Given the description of an element on the screen output the (x, y) to click on. 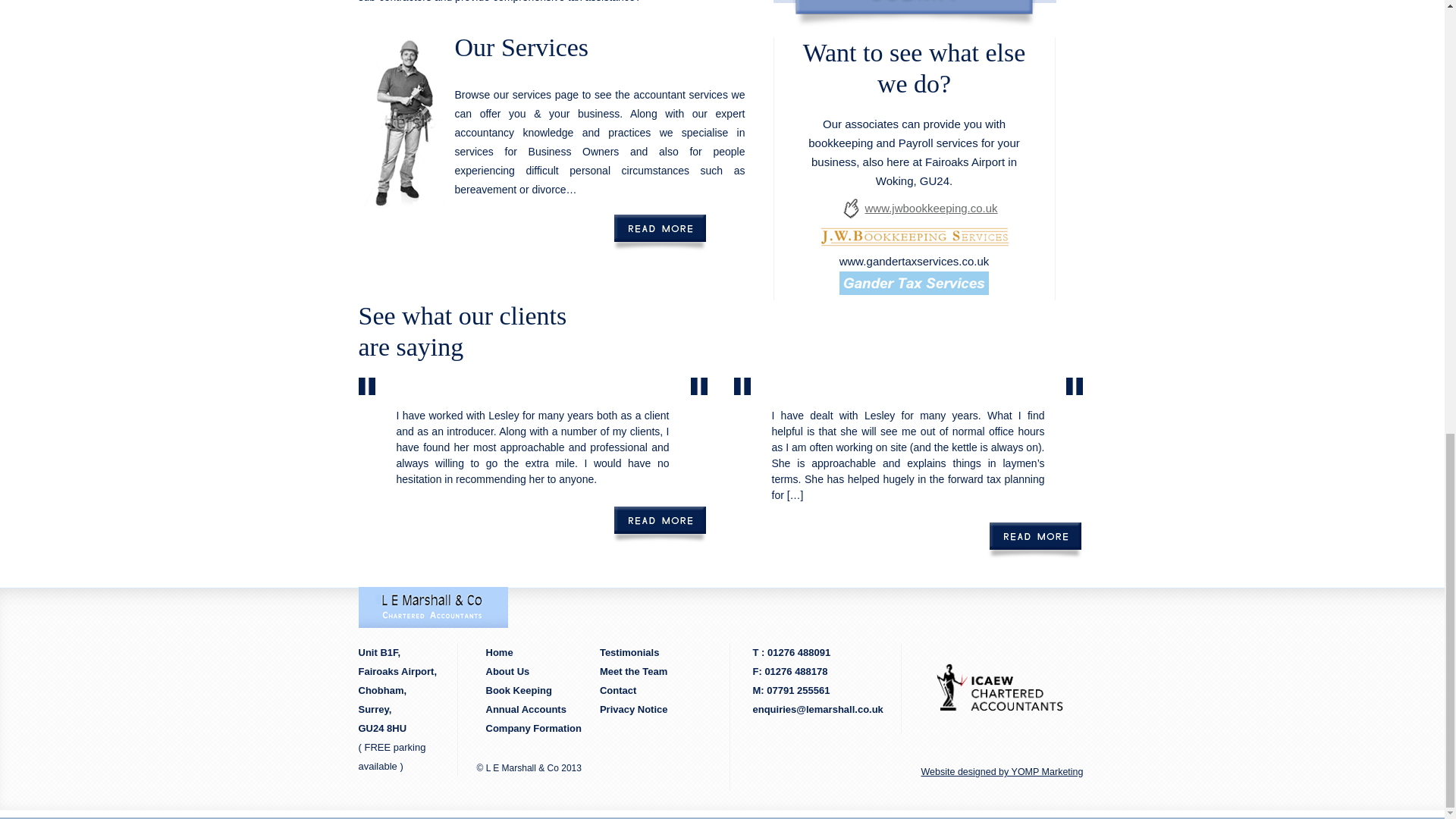
Want to see what else we do? (914, 75)
www.gandertaxservices.co.uk (915, 260)
Send (913, 13)
Annual Accounts (525, 708)
Meet the Team (634, 671)
About Us (507, 671)
Company Formation (532, 727)
Testimonials (629, 652)
Website designed by YOMP Marketing (992, 772)
Book Keeping (518, 690)
www.jwbookkeeping.co.uk (938, 208)
Send (913, 13)
Contact (618, 690)
Privacy Notice (634, 708)
